Given the description of an element on the screen output the (x, y) to click on. 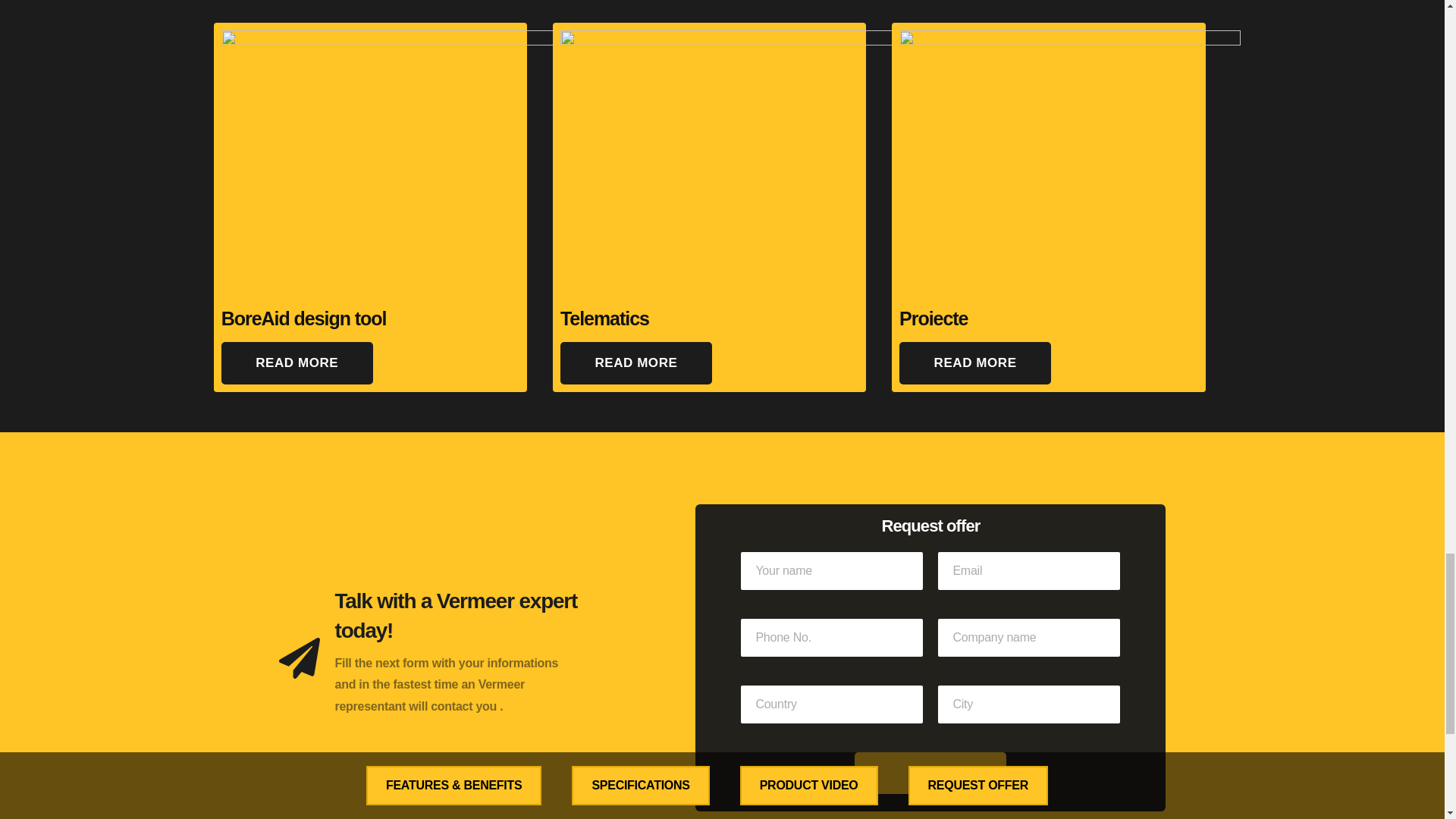
Send (930, 772)
